Given the description of an element on the screen output the (x, y) to click on. 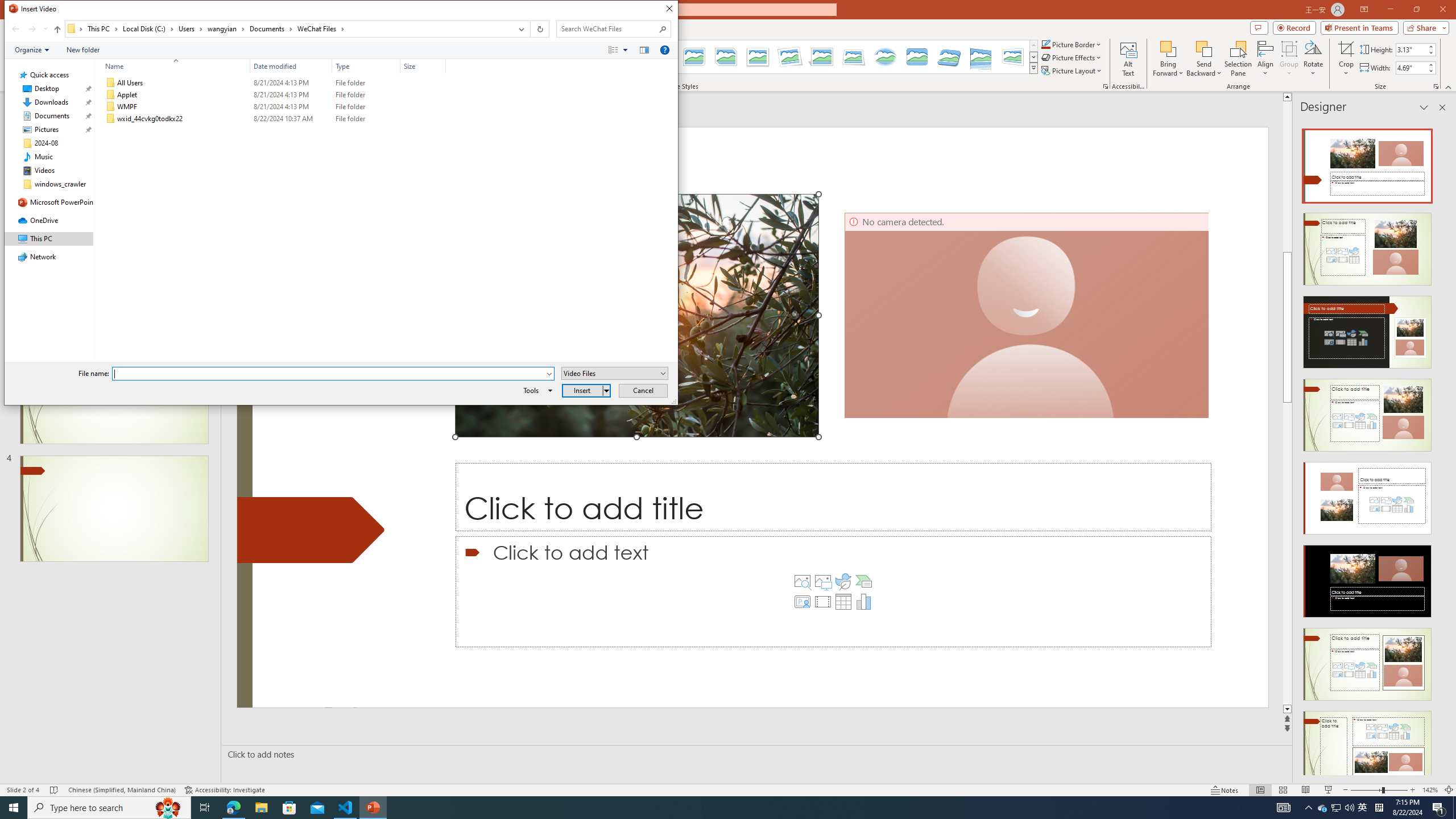
Action Center, 1 new notification (1439, 807)
Snip Diagonal Corner, White (726, 56)
Preview pane (644, 49)
Command Module (341, 49)
Selection Pane... (1238, 58)
Insert an Icon (843, 581)
Recent locations (44, 28)
Soft Edge Oval (885, 56)
Crop (1345, 58)
Insert Cameo (801, 601)
Picture... (1104, 85)
wxid_44cvkg0todkx22 (273, 119)
